Given the description of an element on the screen output the (x, y) to click on. 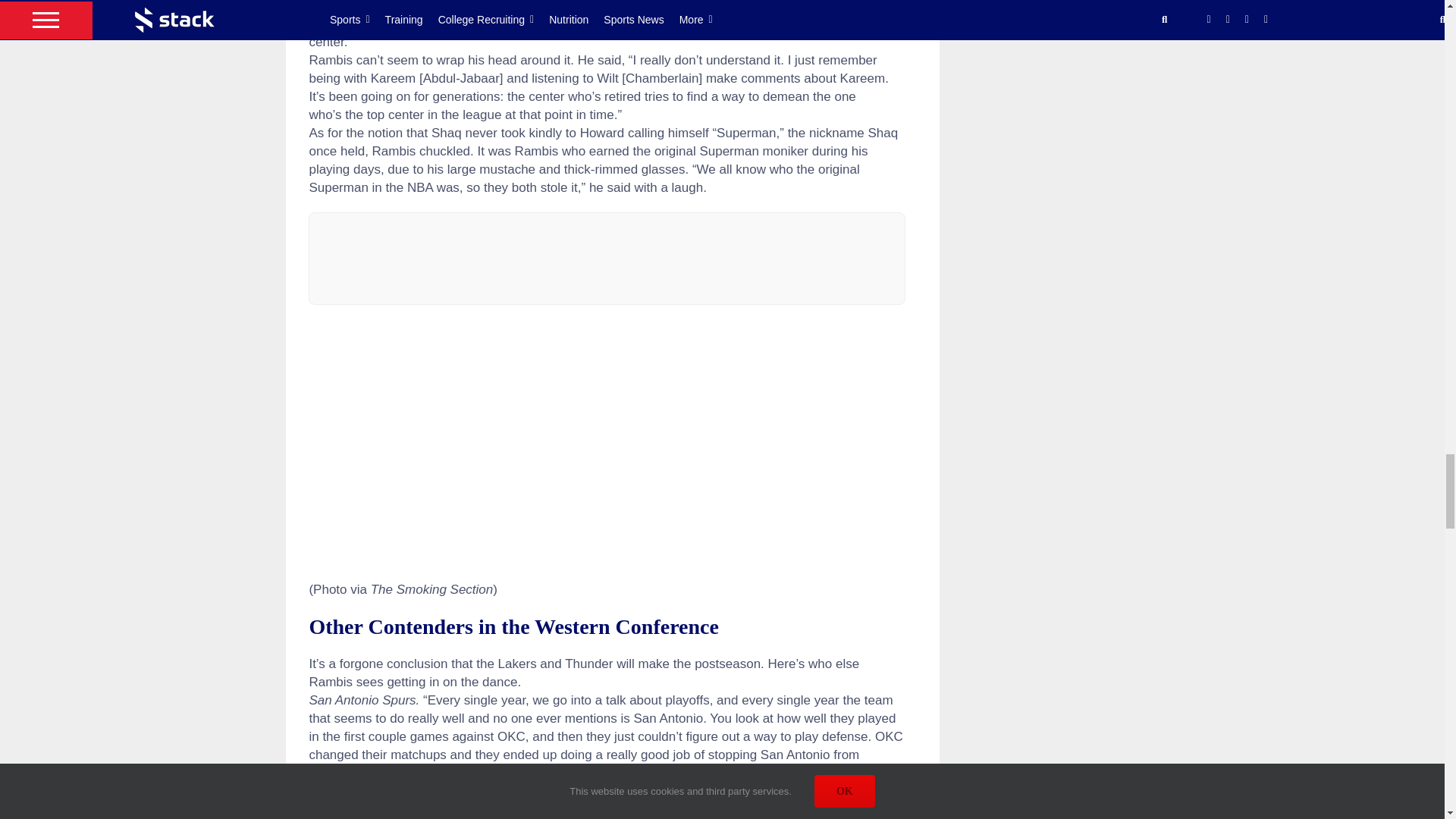
Dwight Howard and Shaq - STACK (606, 442)
